Given the description of an element on the screen output the (x, y) to click on. 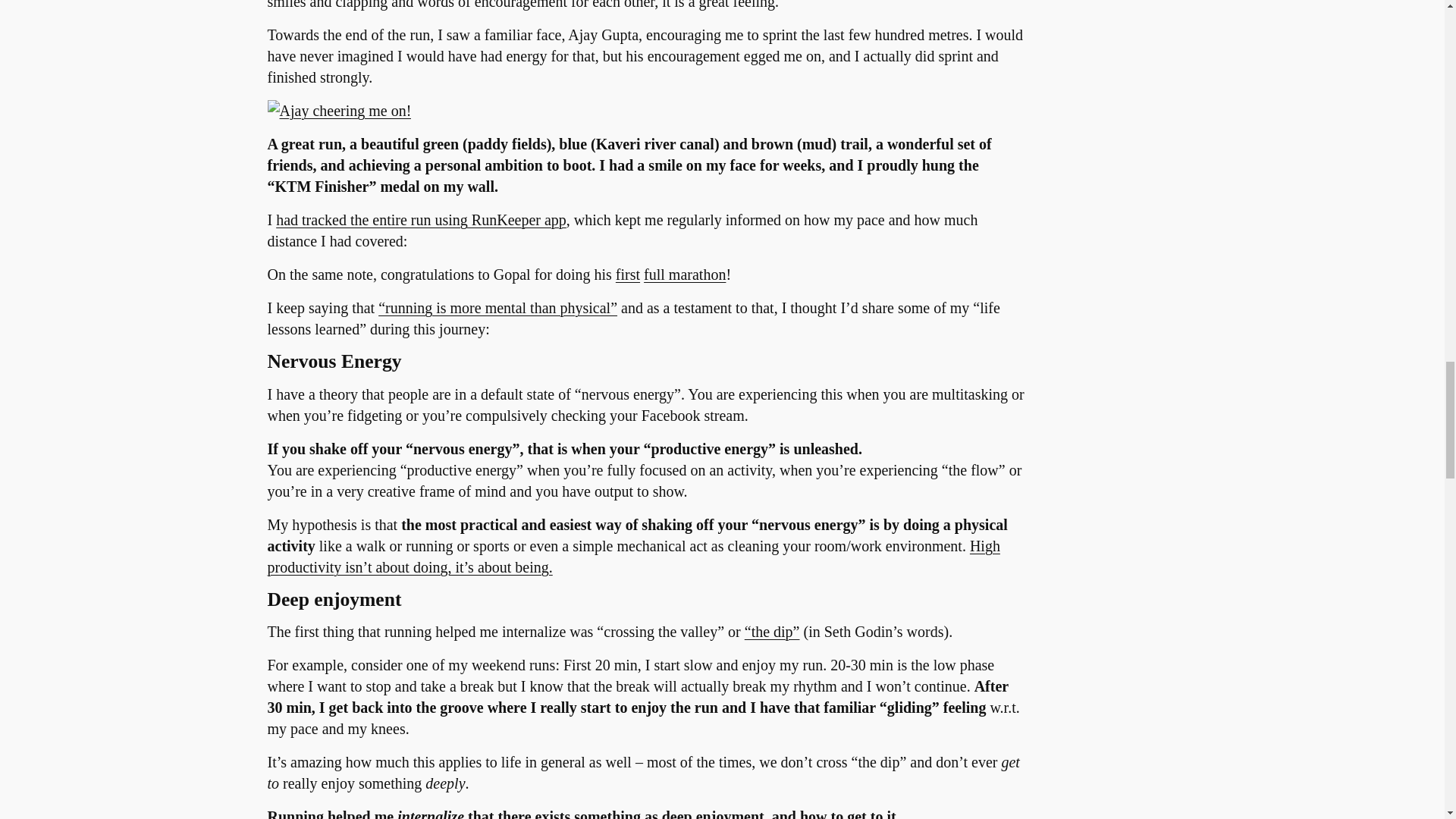
first (627, 274)
had tracked the entire run using RunKeeper app (421, 219)
full marathon (684, 274)
Ajay cheering me on! (338, 110)
